Given the description of an element on the screen output the (x, y) to click on. 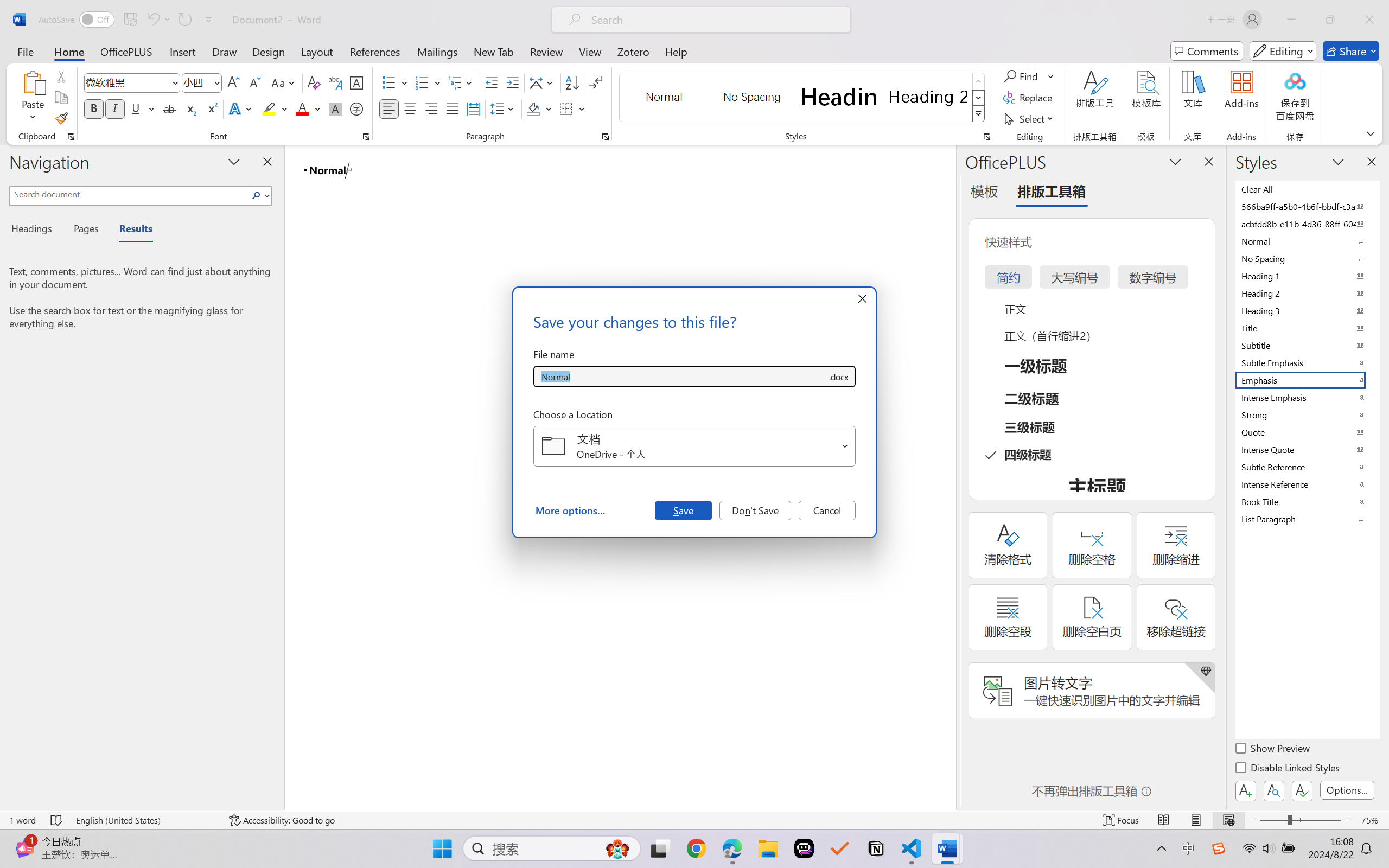
Text Highlight Color (274, 108)
Close (1369, 19)
Paragraph... (605, 136)
Format Painter (60, 118)
Strikethrough (169, 108)
acbfdd8b-e11b-4d36-88ff-6049b138f862 (1306, 223)
Normal (1306, 240)
